Given the description of an element on the screen output the (x, y) to click on. 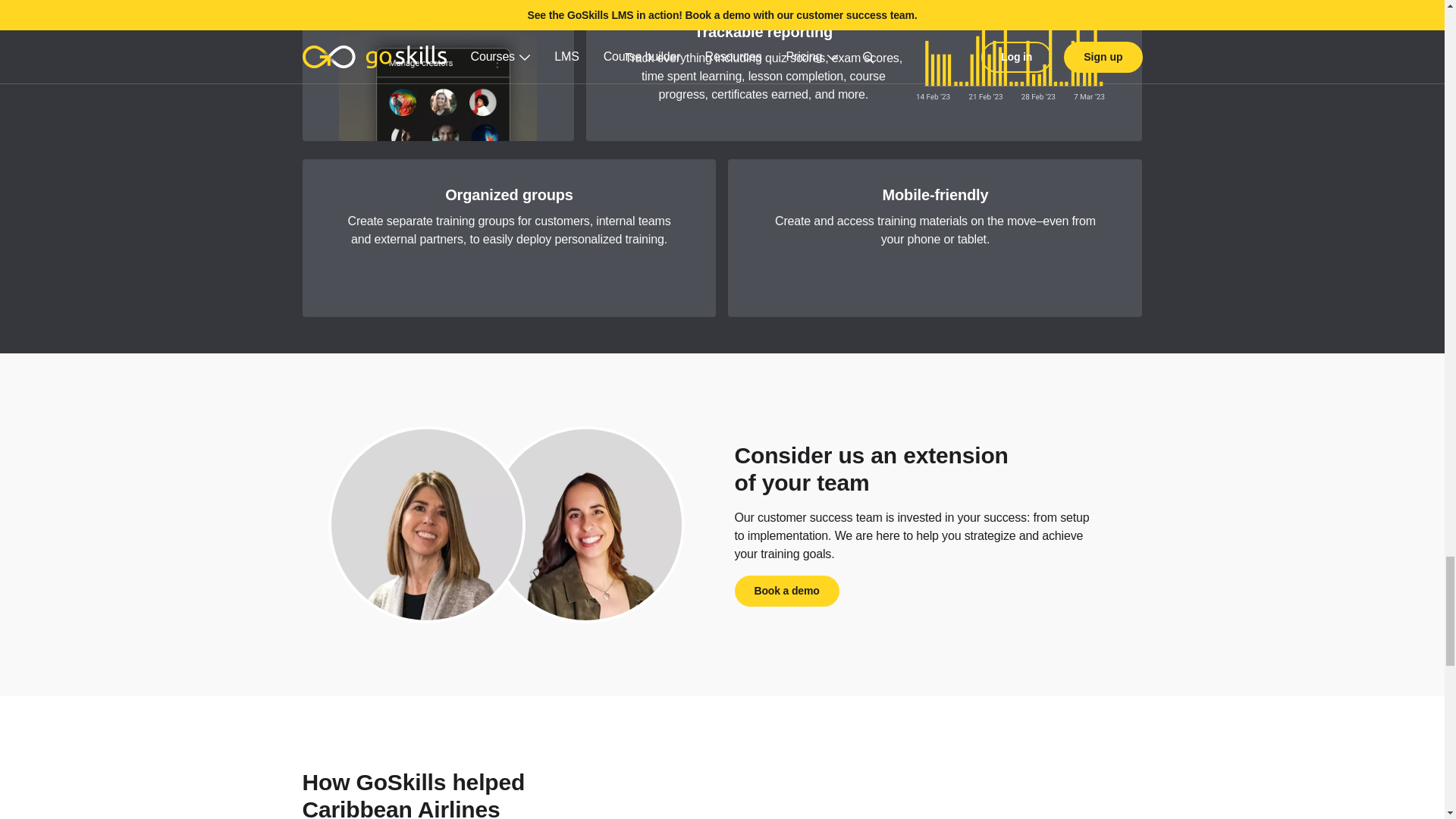
Book a demo (785, 590)
